Given the description of an element on the screen output the (x, y) to click on. 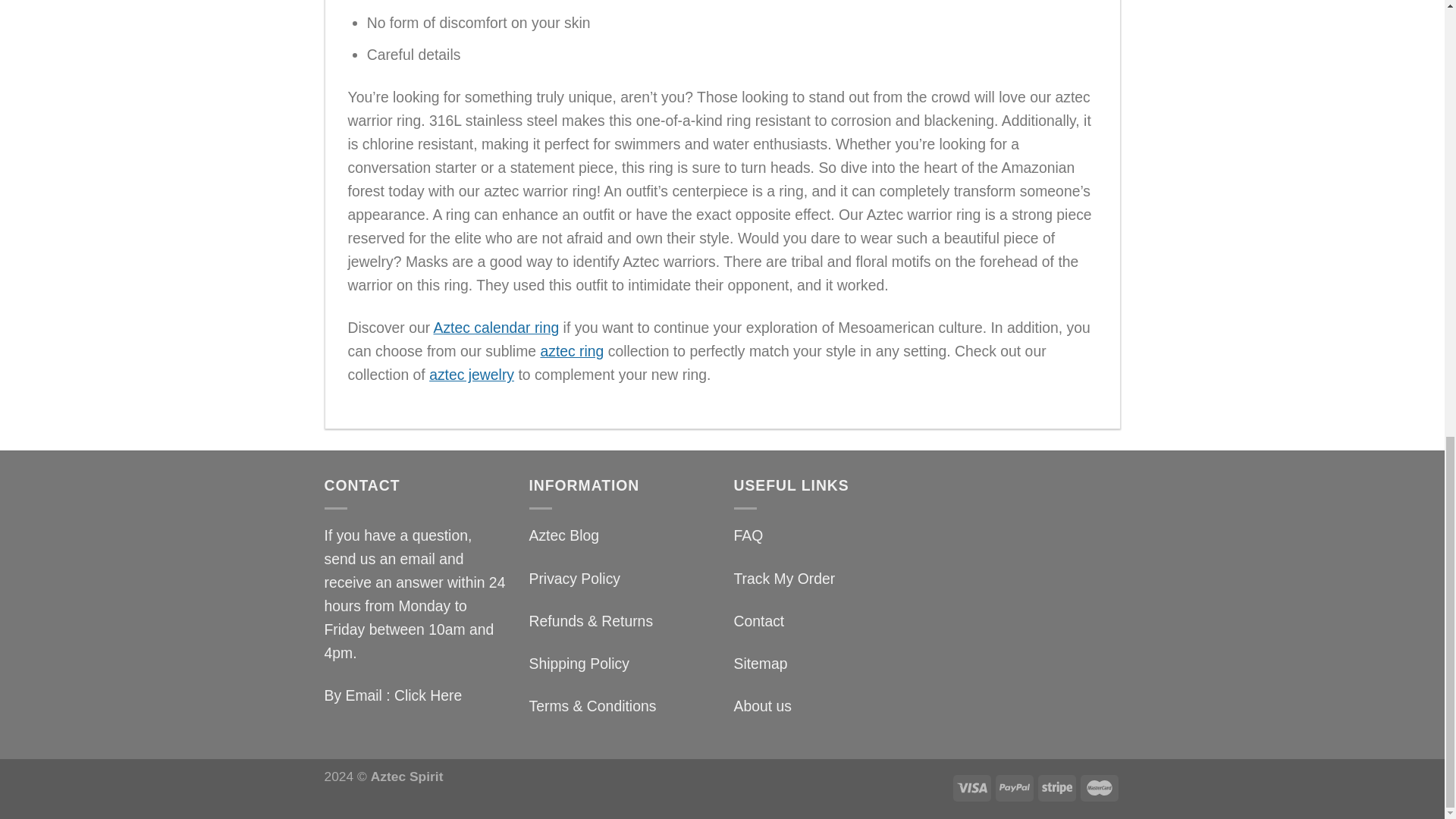
aztec jewelry (471, 374)
aztec ring (572, 351)
Aztec calendar ring (495, 327)
